Given the description of an element on the screen output the (x, y) to click on. 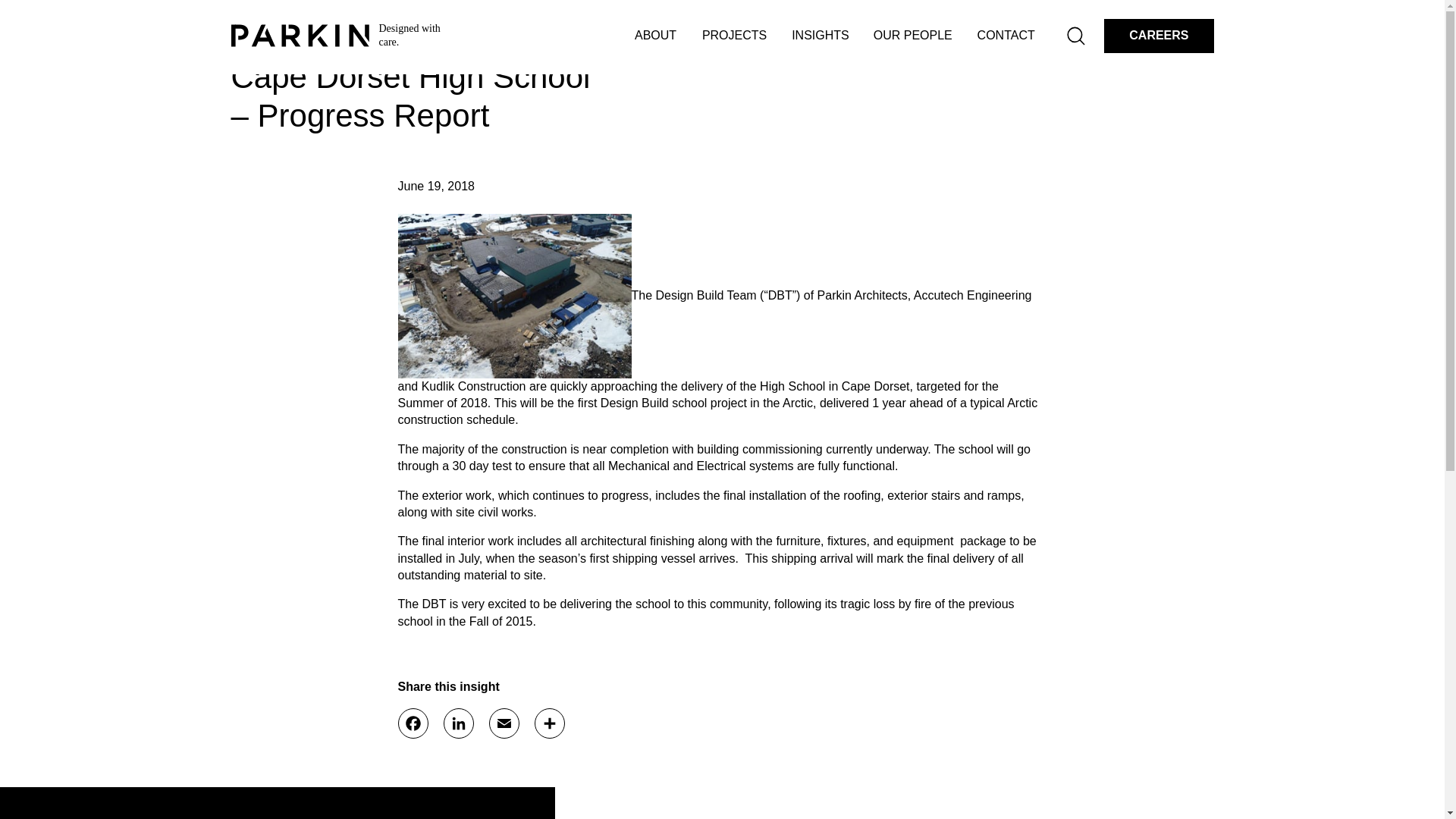
LinkedIn (457, 723)
Facebook (412, 723)
Email (502, 723)
CAREERS (1157, 35)
INSIGHTS (819, 35)
PROJECTS (734, 35)
OUR PEOPLE (913, 35)
Facebook (412, 723)
LinkedIn (457, 723)
Search (1076, 35)
